Given the description of an element on the screen output the (x, y) to click on. 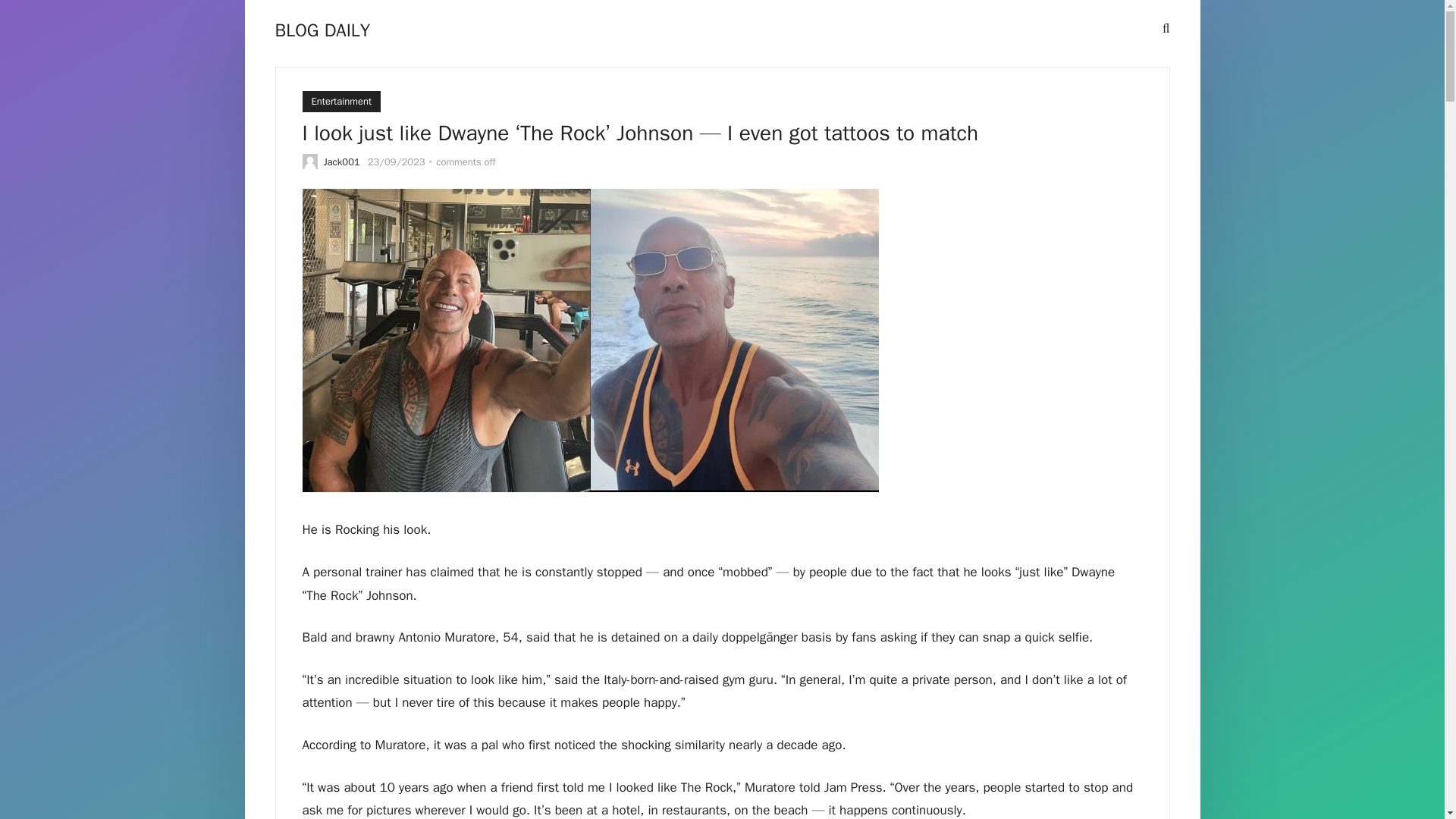
Entertainment (340, 101)
BLOG DAILY (322, 30)
Jack001 (341, 161)
